Given the description of an element on the screen output the (x, y) to click on. 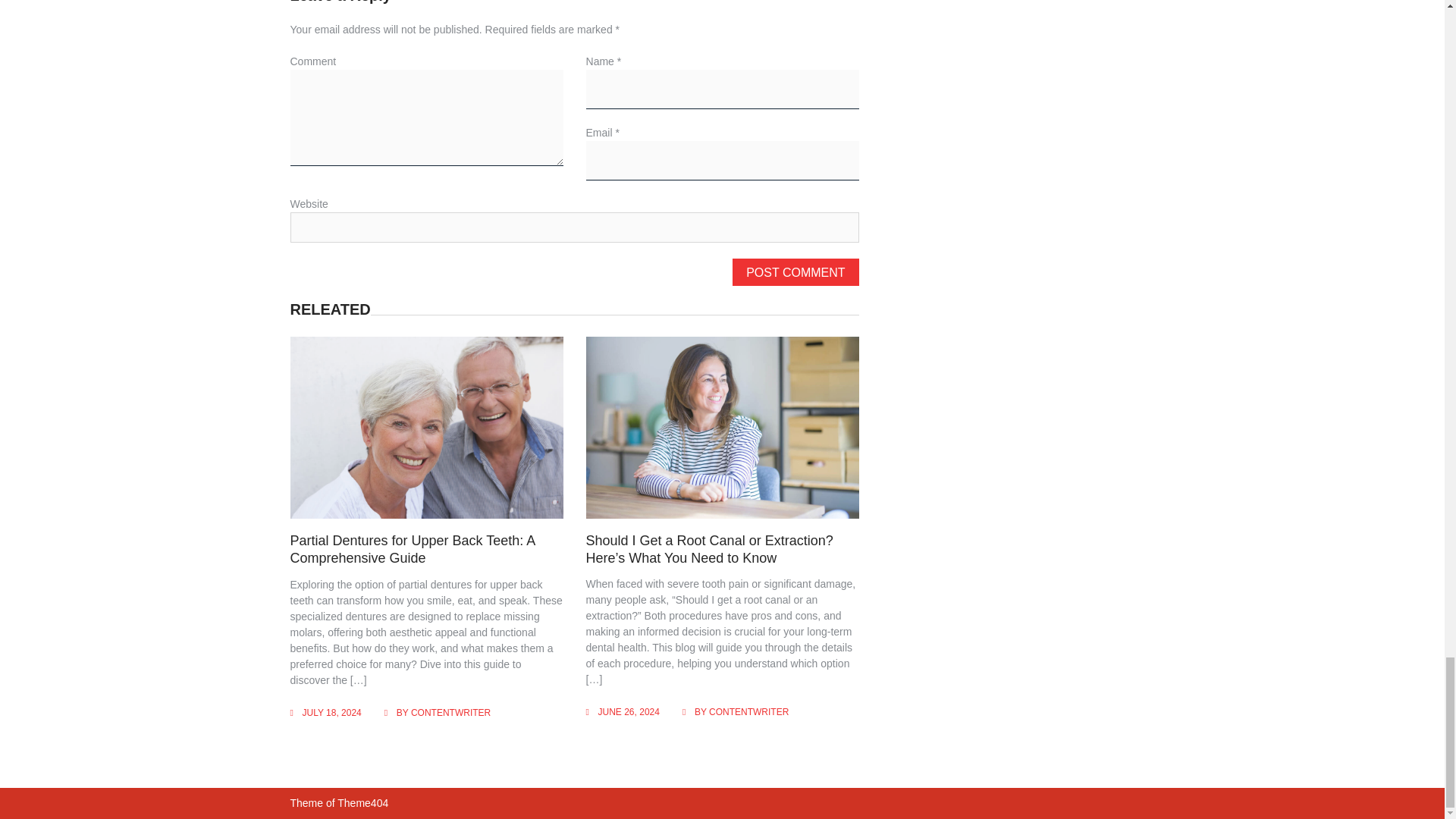
Post Comment (795, 271)
CONTENTWRITER (749, 711)
Post Comment (795, 271)
CONTENTWRITER (450, 712)
JUNE 26, 2024 (628, 711)
Partial Dentures for Upper Back Teeth: A Comprehensive Guide (411, 549)
JULY 18, 2024 (331, 712)
